Given the description of an element on the screen output the (x, y) to click on. 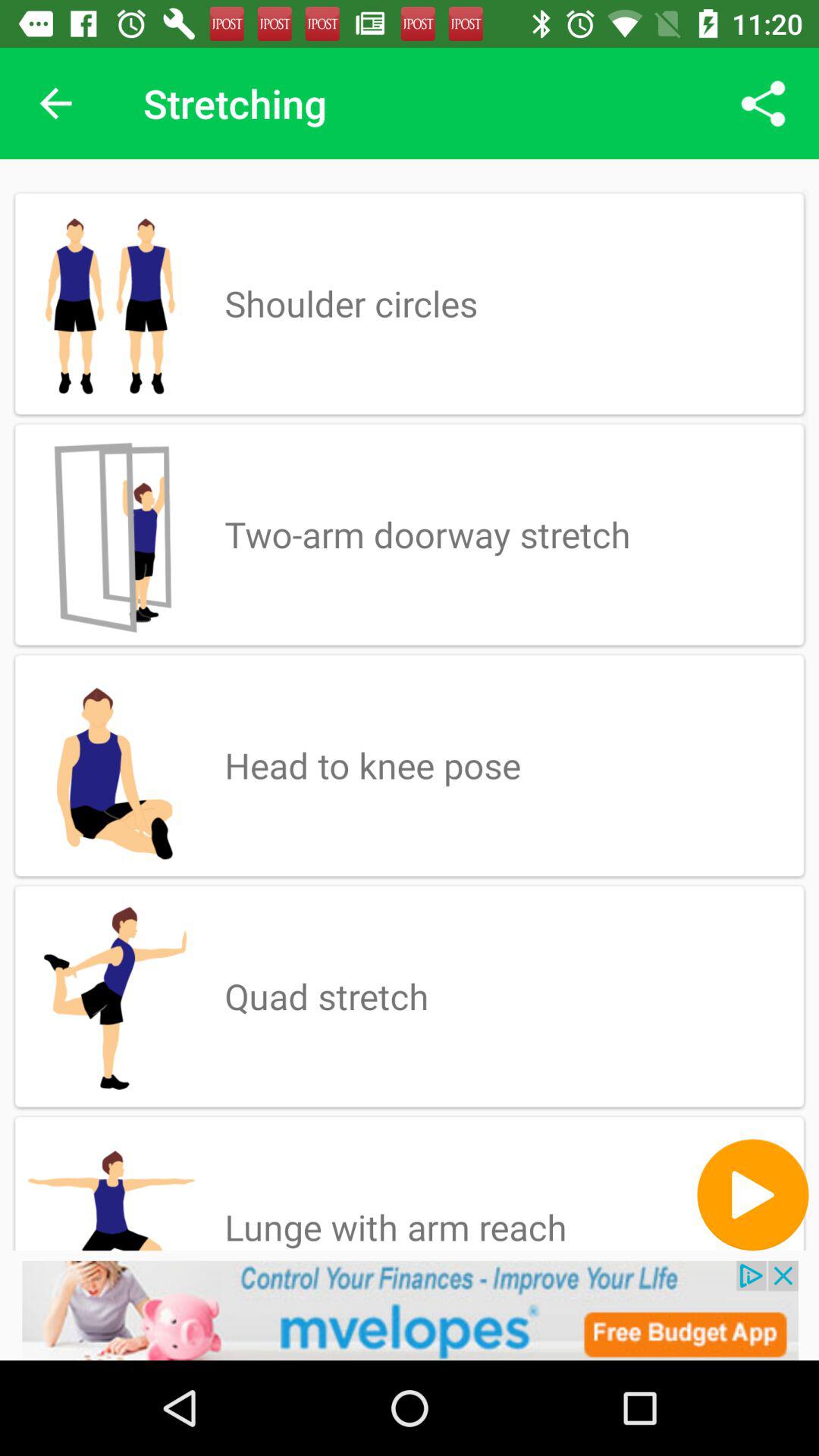
go to next (752, 1194)
